Given the description of an element on the screen output the (x, y) to click on. 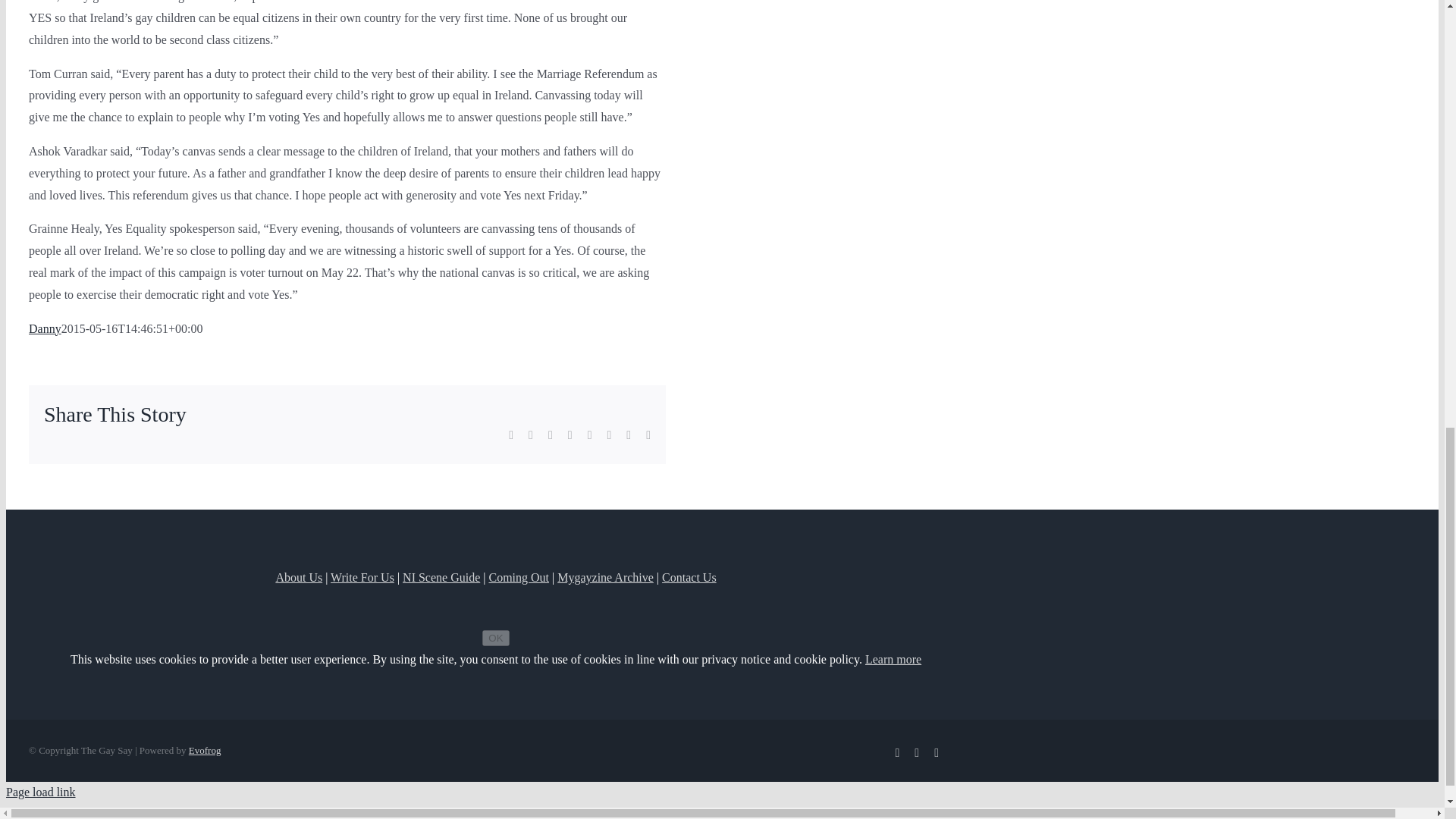
Write For Us (362, 576)
Contact Us (689, 576)
Danny (45, 328)
OK (494, 637)
Coming Out (517, 576)
Posts by Danny (45, 328)
NI Scene Guide (441, 576)
Mygayzine Archive (605, 576)
About Us (298, 576)
